Given the description of an element on the screen output the (x, y) to click on. 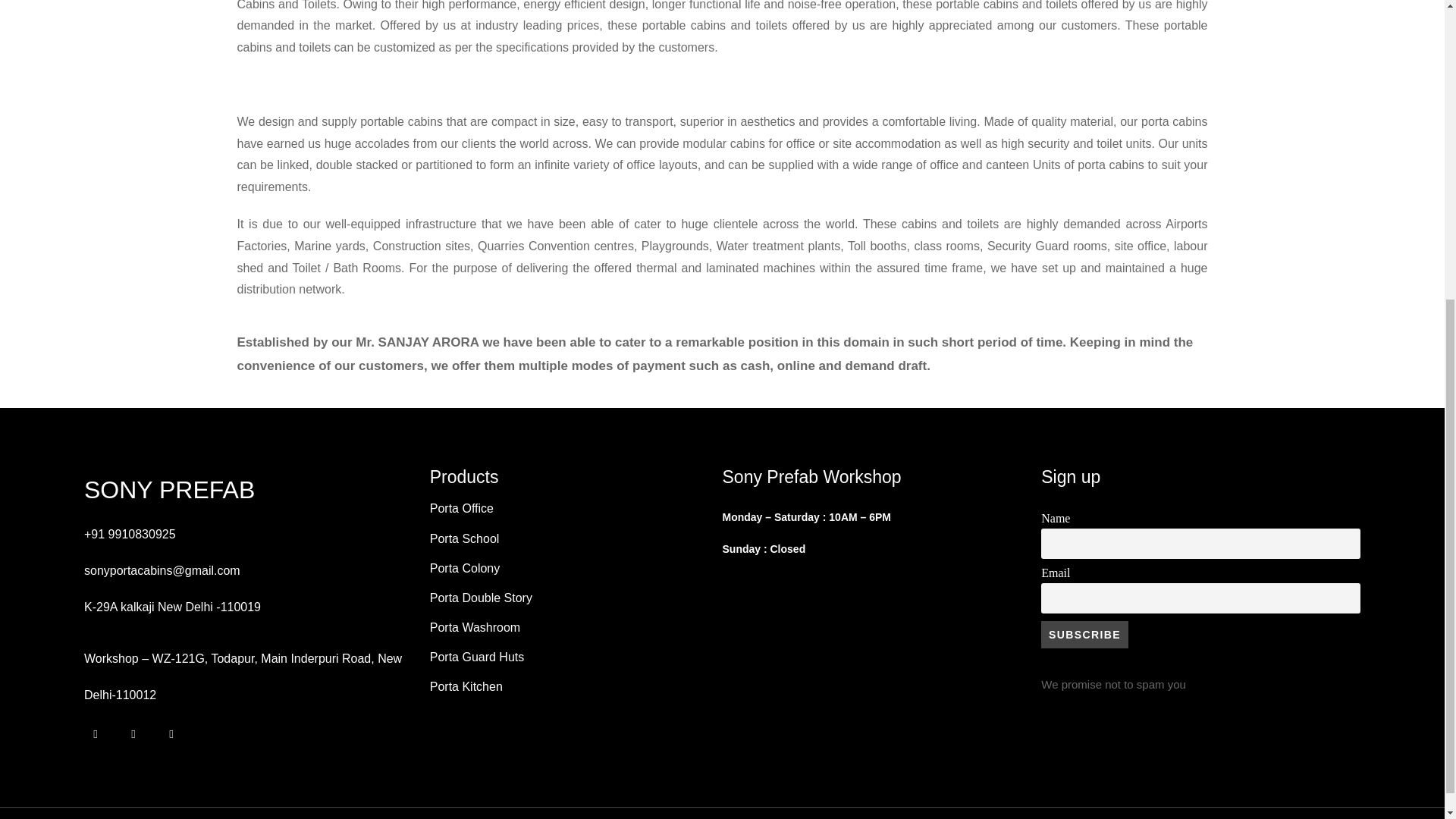
Subscribe (1084, 634)
Porta Kitchen  (467, 686)
Porta Guard Huts (476, 656)
Porta School (464, 538)
Porta Office (461, 508)
Porta Double Story (480, 597)
Porta Washroom (474, 626)
Porta Colony (464, 567)
Subscribe (1084, 634)
